Given the description of an element on the screen output the (x, y) to click on. 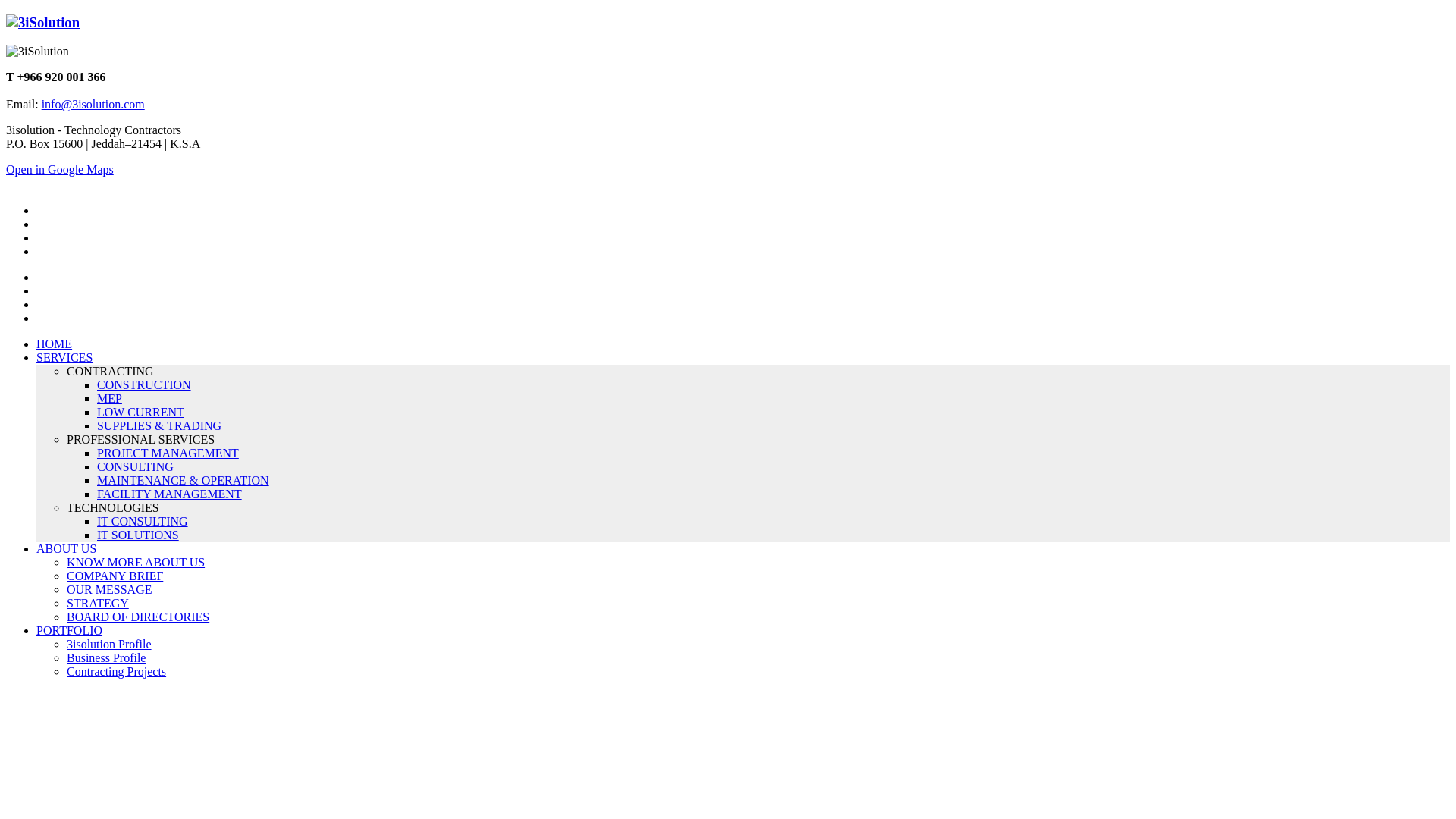
HOME Element type: text (54, 343)
Open in Google Maps Element type: text (59, 169)
MAINTENANCE & OPERATION Element type: text (183, 479)
MEP Element type: text (109, 398)
OUR MESSAGE Element type: text (108, 589)
Business Profile Element type: text (105, 657)
PORTFOLIO Element type: text (69, 630)
ABOUT US Element type: text (66, 548)
TECHNOLOGIES Element type: text (112, 507)
COMPANY BRIEF Element type: text (114, 575)
LOW CURRENT Element type: text (140, 411)
3isolution Profile Element type: text (108, 643)
CONTRACTING Element type: text (109, 370)
KNOW MORE ABOUT US Element type: text (135, 561)
CONSTRUCTION Element type: text (144, 384)
IT SOLUTIONS Element type: text (137, 534)
IT CONSULTING Element type: text (142, 520)
PROFESSIONAL SERVICES Element type: text (140, 439)
CONSULTING Element type: text (135, 466)
BOARD OF DIRECTORIES Element type: text (137, 616)
STRATEGY Element type: text (97, 602)
SUPPLIES & TRADING Element type: text (159, 425)
SERVICES Element type: text (64, 357)
Contracting Projects Element type: text (116, 671)
info@3isolution.com Element type: text (92, 103)
FACILITY MANAGEMENT Element type: text (169, 493)
PROJECT MANAGEMENT Element type: text (167, 452)
Technology Contractor Element type: hover (42, 22)
